Given the description of an element on the screen output the (x, y) to click on. 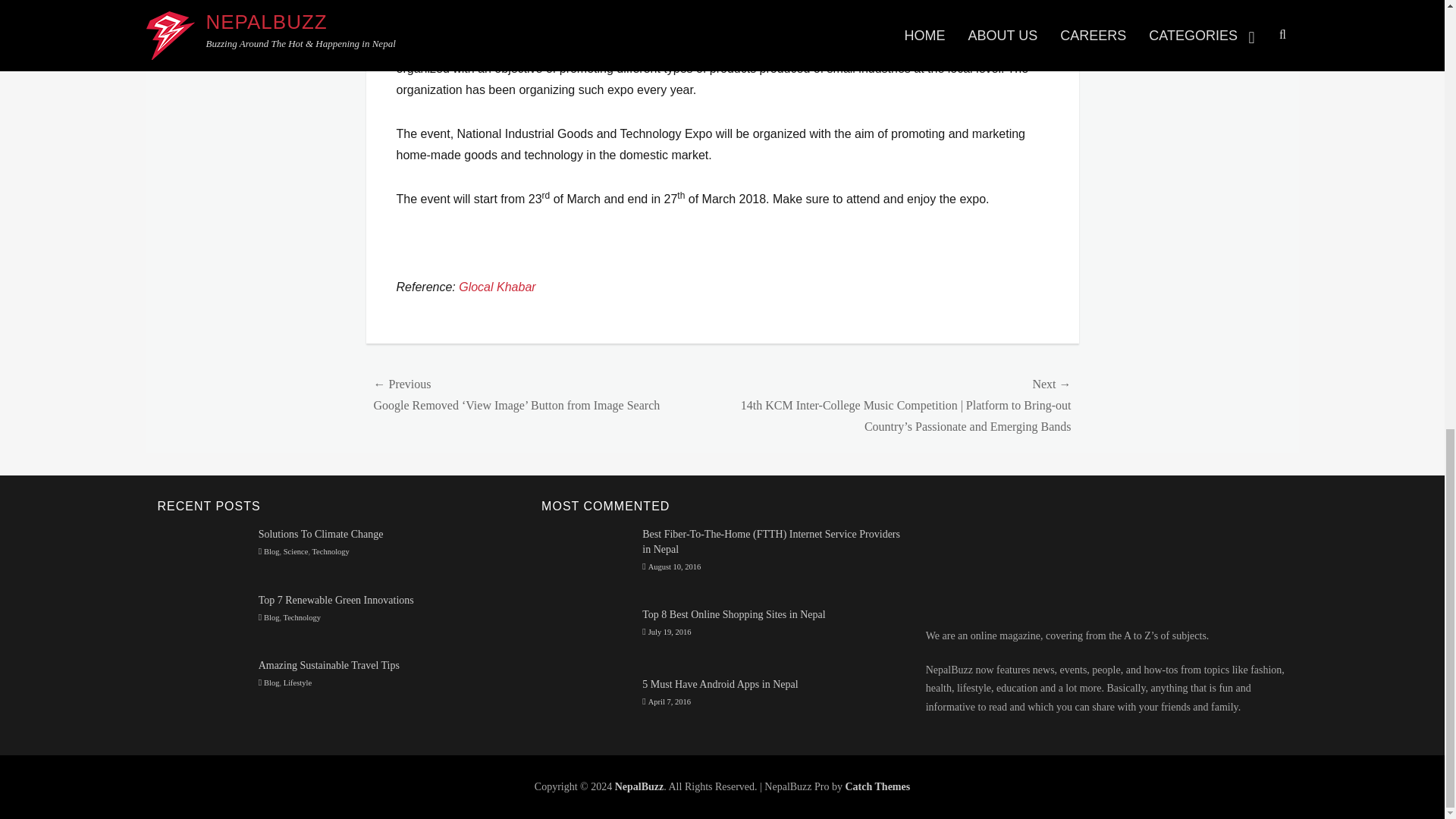
Top 8 Best Online Shopping Sites in Nepal (733, 614)
Top 8 Best Online Shopping Sites in Nepal (586, 636)
Amazing Sustainable Travel Tips (202, 682)
Top 7 Renewable Green Innovations (336, 600)
5 Must Have Android Apps in Nepal (586, 701)
Glocal Khabar (496, 286)
Amazing Sustainable Travel Tips (328, 665)
Top 7 Renewable Green Innovations (202, 616)
Solutions To Climate Change (321, 533)
Solutions To Climate Change (202, 551)
Solutions To Climate Change (321, 533)
5 Must Have Android Apps in Nepal (719, 684)
